Given the description of an element on the screen output the (x, y) to click on. 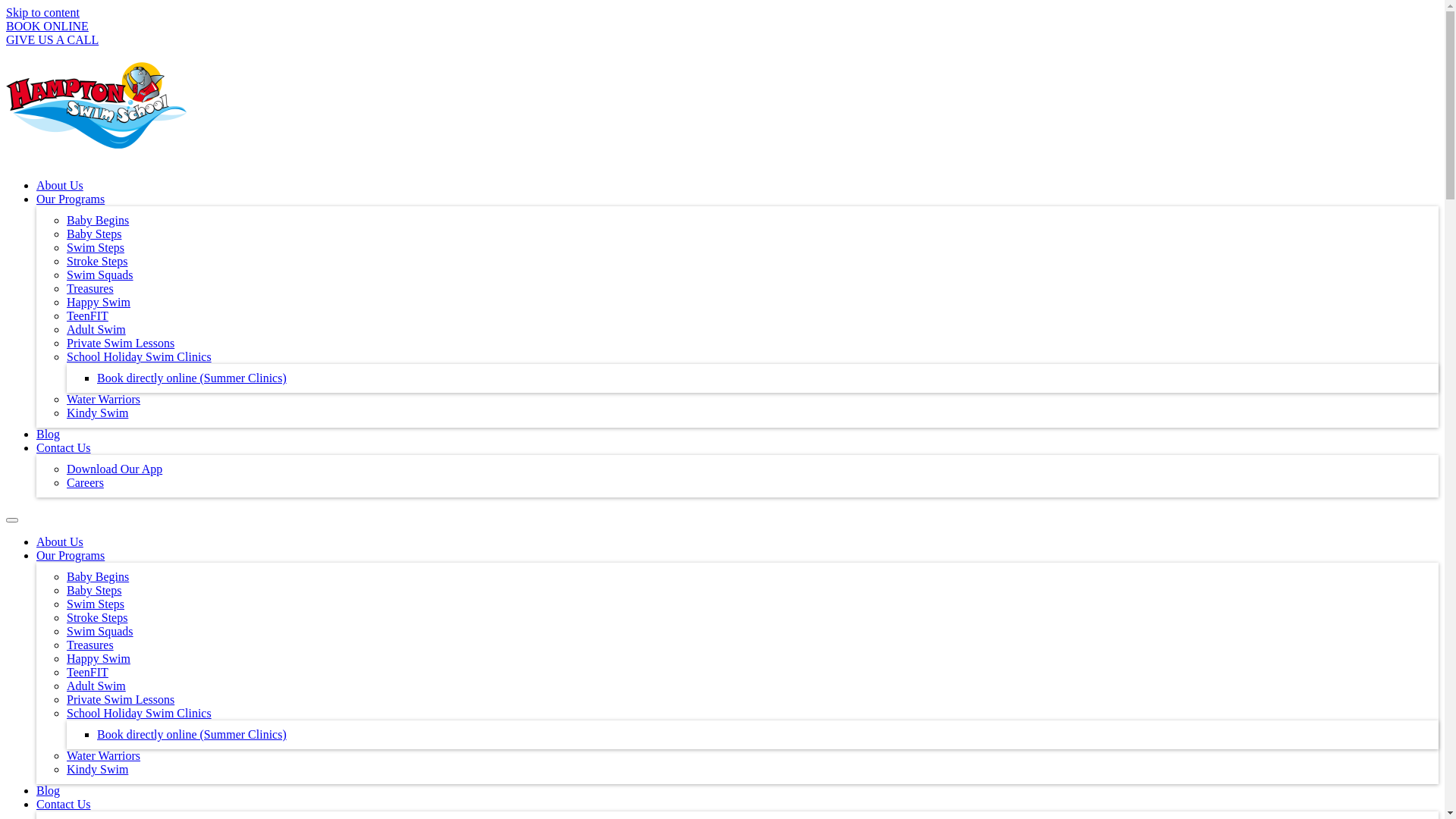
Baby Steps Element type: text (93, 233)
Adult Swim Element type: text (95, 329)
BOOK ONLINE Element type: text (47, 25)
TeenFIT Element type: text (87, 315)
Kindy Swim Element type: text (97, 768)
Book directly online (Summer Clinics) Element type: text (191, 377)
Our Programs Element type: text (70, 198)
Book directly online (Summer Clinics) Element type: text (191, 734)
Hampton-Logo Element type: hover (96, 105)
About Us Element type: text (59, 541)
Baby Steps Element type: text (93, 589)
Swim Squads Element type: text (99, 274)
Treasures Element type: text (89, 644)
Baby Begins Element type: text (97, 576)
Private Swim Lessons Element type: text (120, 699)
Happy Swim Element type: text (98, 658)
Contact Us Element type: text (63, 447)
Stroke Steps Element type: text (96, 260)
TeenFIT Element type: text (87, 671)
Download Our App Element type: text (114, 468)
Skip to content Element type: text (42, 12)
Swim Squads Element type: text (99, 630)
Blog Element type: text (47, 433)
Water Warriors Element type: text (103, 755)
Swim Steps Element type: text (95, 247)
Happy Swim Element type: text (98, 301)
Careers Element type: text (84, 482)
Contact Us Element type: text (63, 803)
Private Swim Lessons Element type: text (120, 342)
Water Warriors Element type: text (103, 398)
Our Programs Element type: text (70, 555)
Kindy Swim Element type: text (97, 412)
Adult Swim Element type: text (95, 685)
GIVE US A CALL Element type: text (52, 39)
Baby Begins Element type: text (97, 219)
School Holiday Swim Clinics Element type: text (138, 712)
Blog Element type: text (47, 790)
Swim Steps Element type: text (95, 603)
About Us Element type: text (59, 184)
Stroke Steps Element type: text (96, 617)
School Holiday Swim Clinics Element type: text (138, 356)
Treasures Element type: text (89, 288)
